Given the description of an element on the screen output the (x, y) to click on. 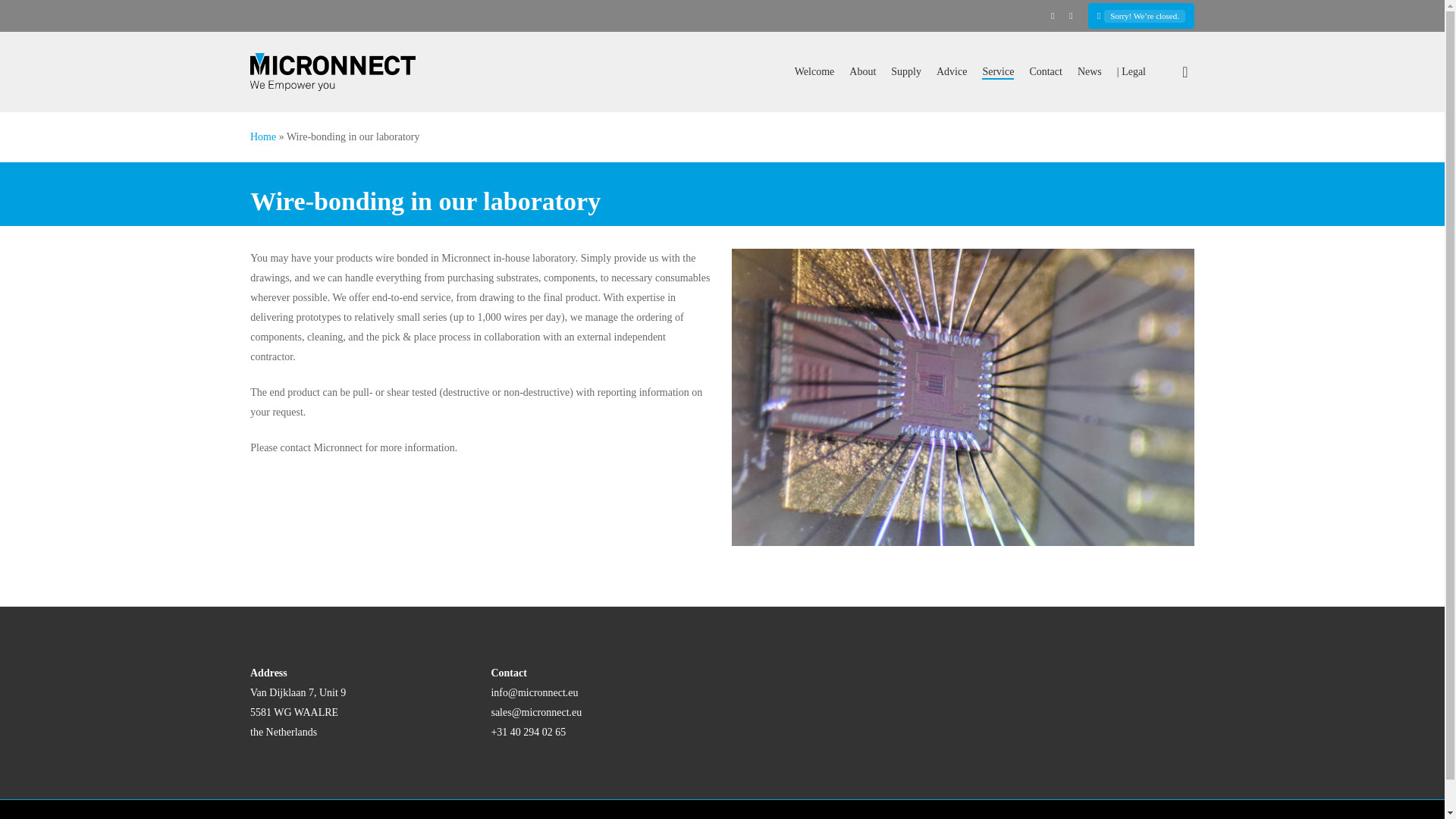
Welcome (814, 71)
About (862, 71)
Supply (906, 71)
